Given the description of an element on the screen output the (x, y) to click on. 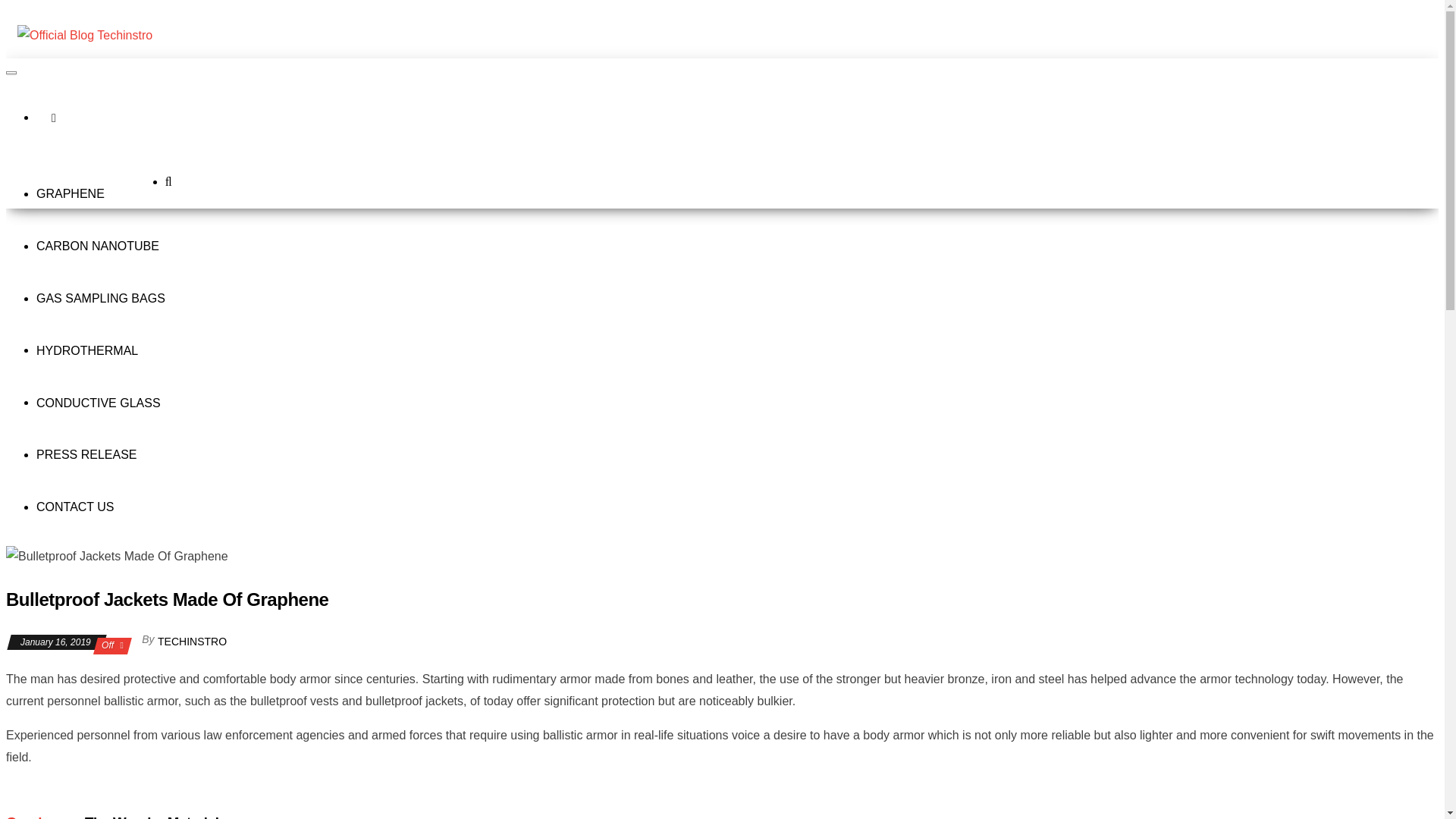
Bulletproof Jackets Made Of Graphene (116, 557)
PRESS RELEASE (86, 455)
Contact Us (75, 507)
TECHINSTRO (192, 641)
CONTACT US (75, 507)
CONDUCTIVE GLASS (98, 403)
Press Release (86, 455)
GAS SAMPLING BAGS (100, 298)
HYDROTHERMAL (87, 351)
